Given the description of an element on the screen output the (x, y) to click on. 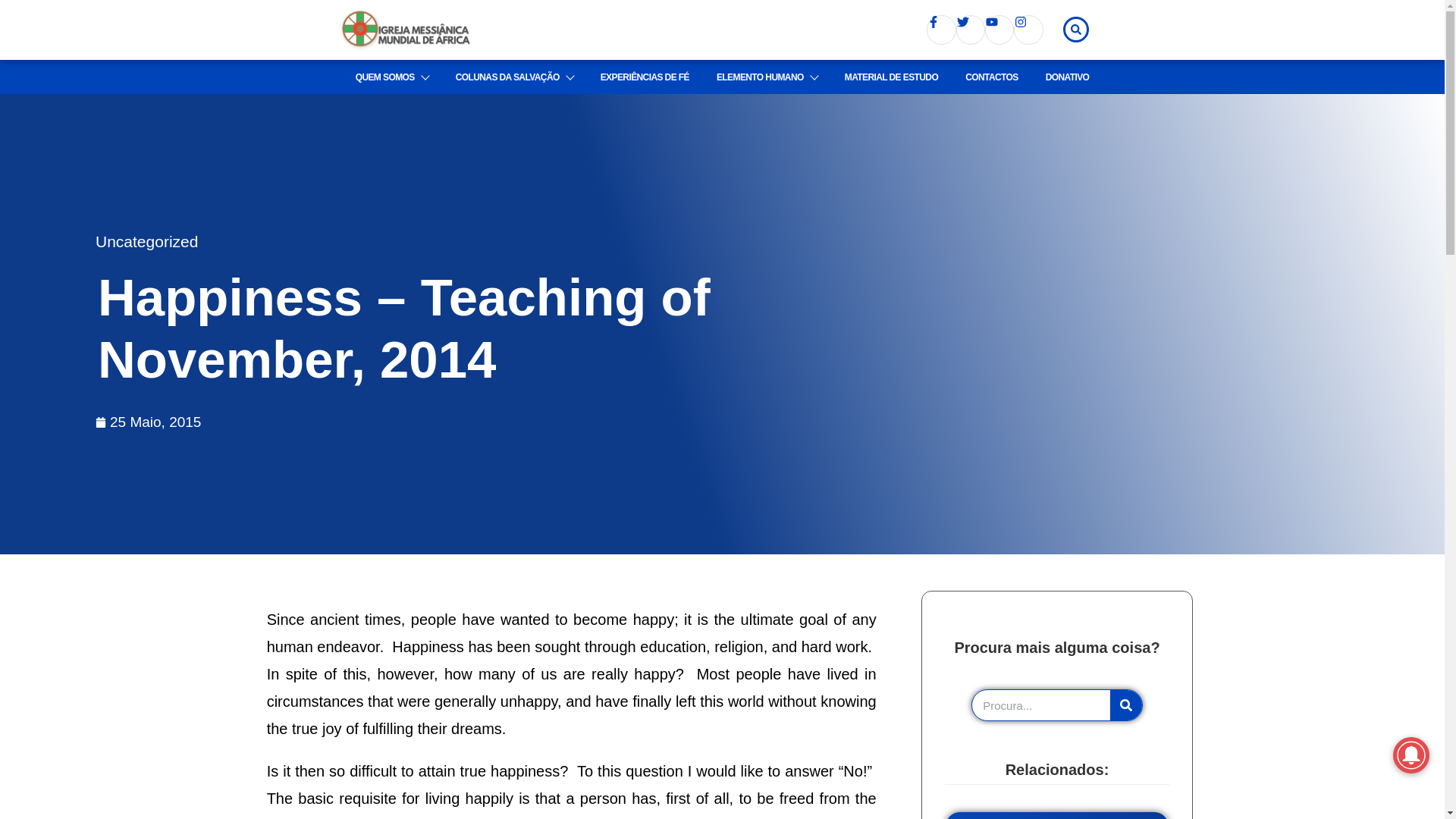
DONATIVO (1067, 76)
ELEMENTO HUMANO (767, 77)
25 Maio, 2015 (148, 421)
Uncategorized (147, 241)
CONTACTOS (992, 76)
MATERIAL DE ESTUDO (890, 76)
QUEM SOMOS (391, 77)
